Given the description of an element on the screen output the (x, y) to click on. 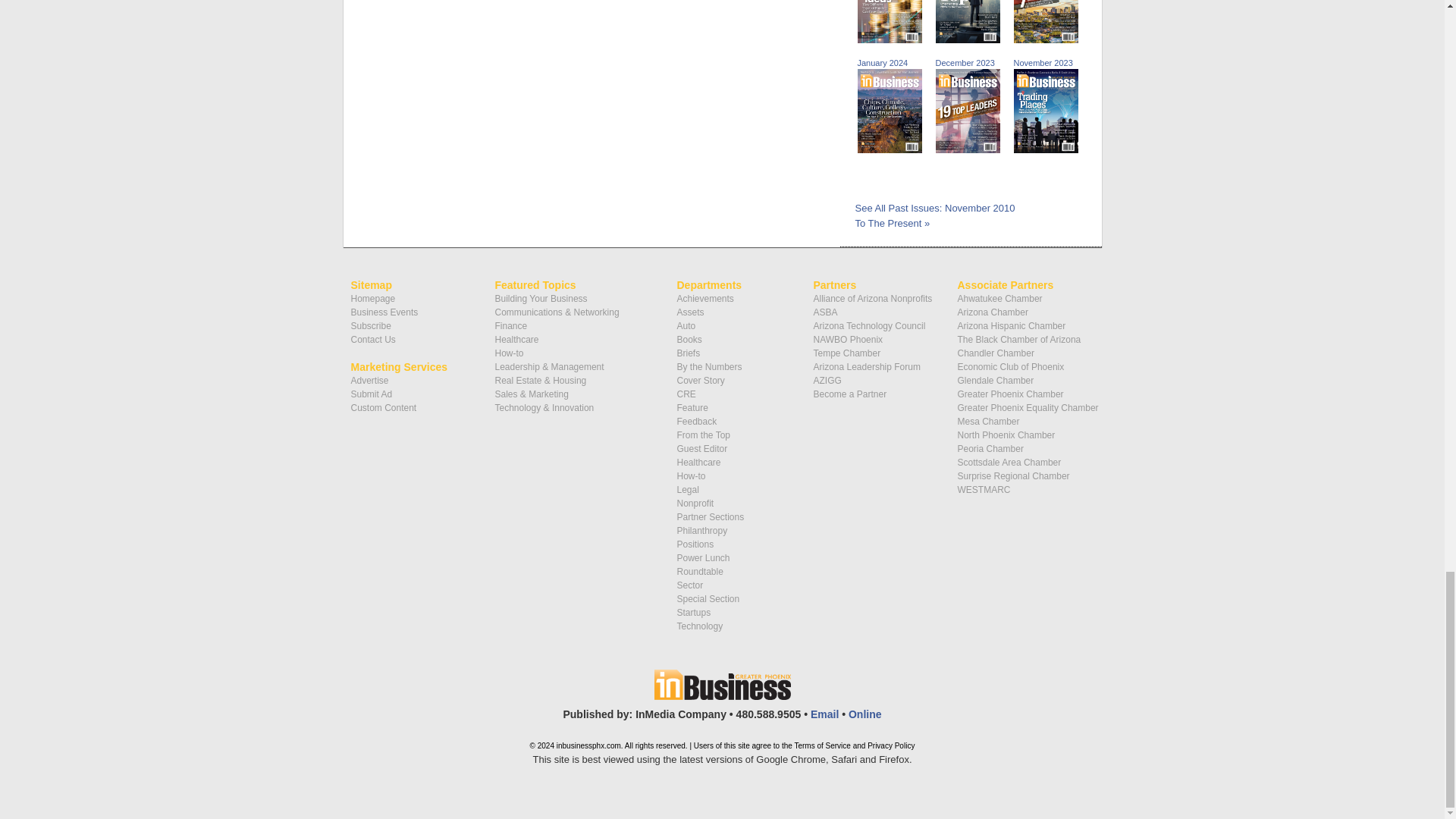
February (1048, 30)
April (892, 30)
March (971, 30)
